Given the description of an element on the screen output the (x, y) to click on. 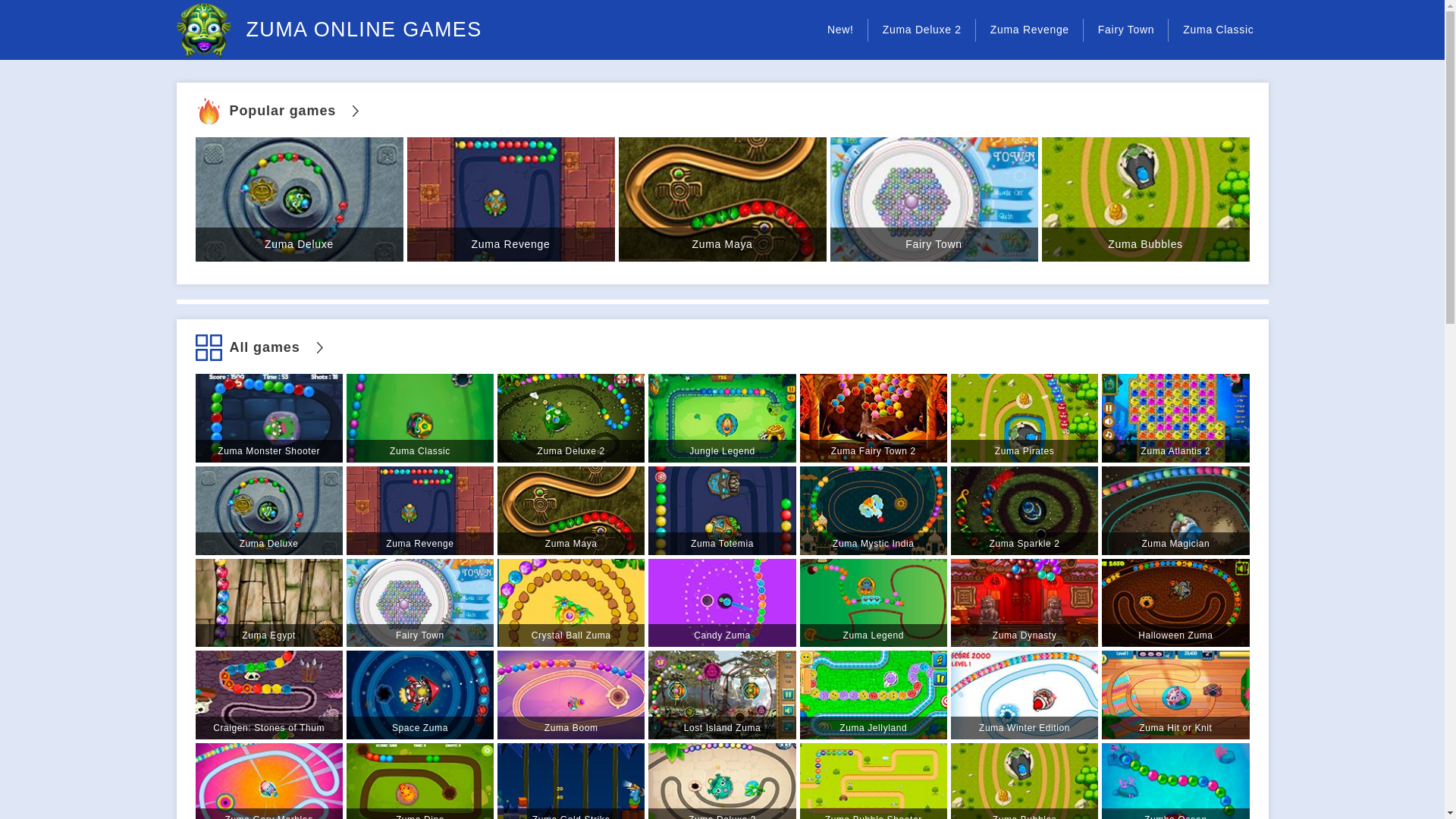
Zuma Boom (571, 694)
Zuma Legend (873, 602)
Candy Zuma (720, 602)
Fairy Town (932, 199)
Zuma Deluxe (268, 510)
Zuma Classic (1218, 29)
Zuma Deluxe 2 (571, 417)
Jungle Legend (720, 417)
Zuma Totemia (720, 510)
Fairy Town (419, 602)
